Given the description of an element on the screen output the (x, y) to click on. 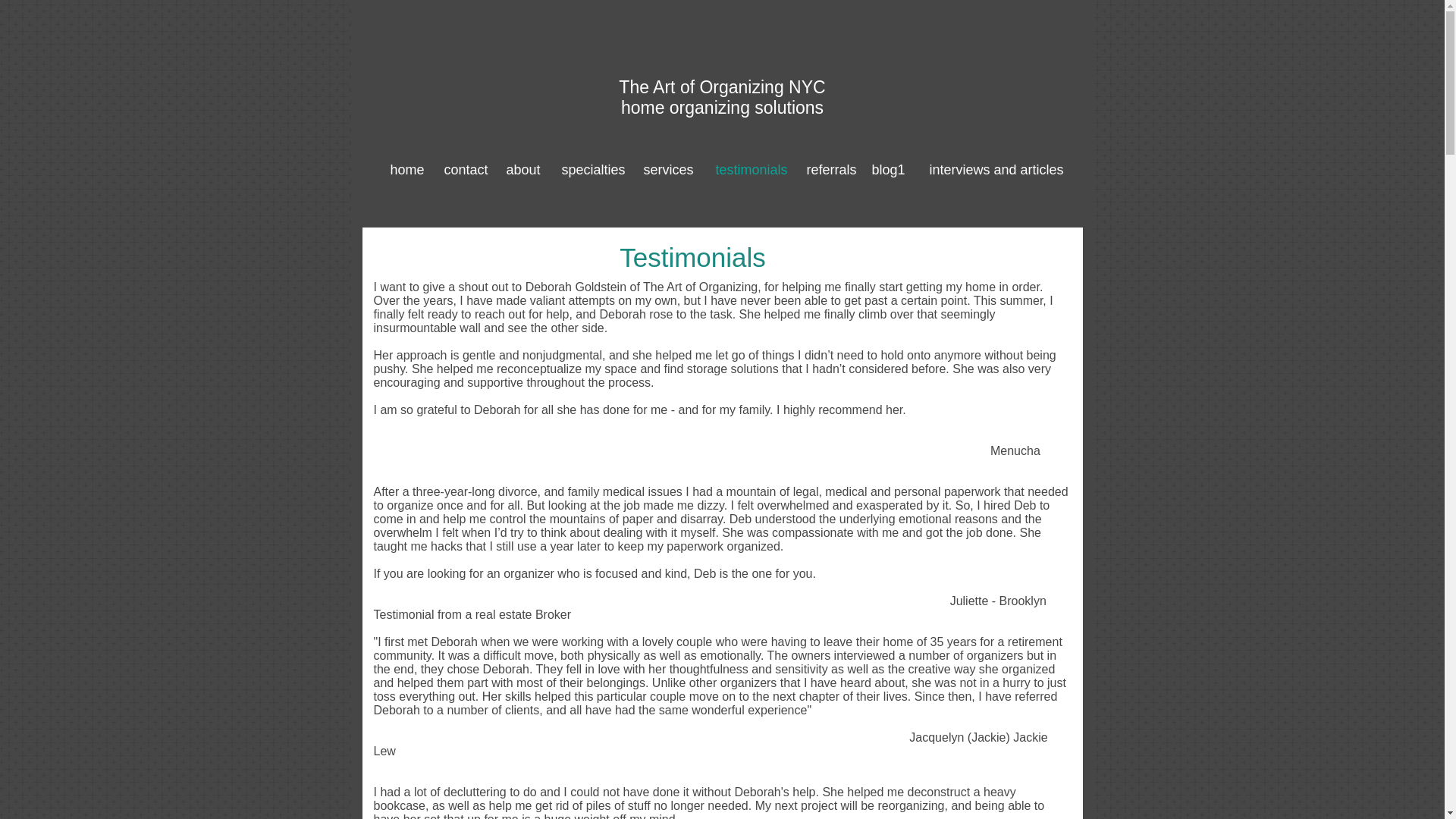
blog1 (888, 170)
referrals (828, 170)
home (405, 170)
specialties (589, 170)
testimonials (747, 170)
services (665, 170)
about (522, 170)
contact (464, 170)
interviews and articles (991, 170)
